Given the description of an element on the screen output the (x, y) to click on. 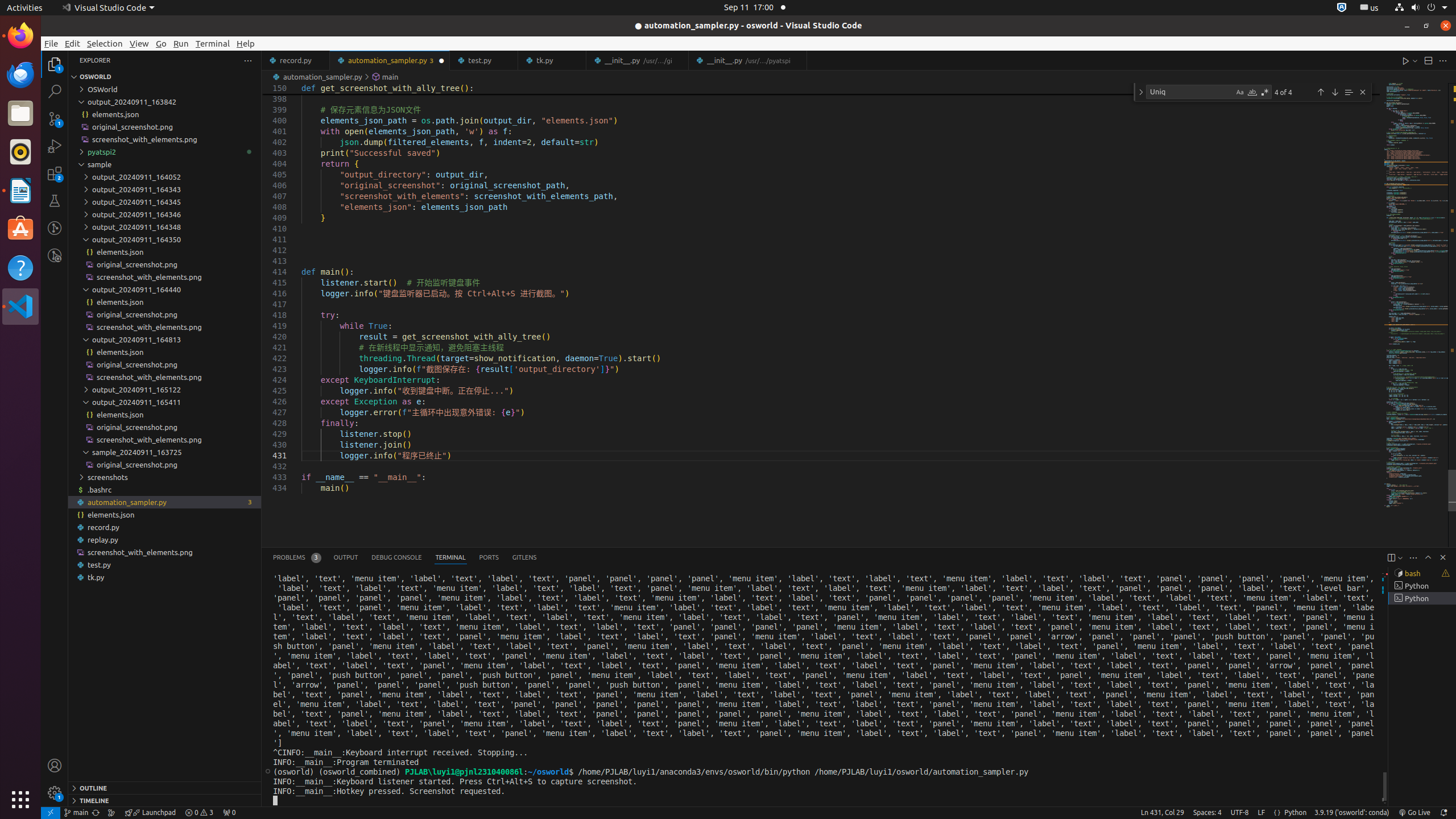
rocket gitlens-unplug Launchpad, GitLens Launchpad ᴘʀᴇᴠɪᴇᴡ    &mdash;    [$(question)](command:gitlens.launchpad.indicator.action?%22info%22 "What is this?") [$(gear)](command:workbench.action.openSettings?%22gitlens.launchpad%22 "Settings")  |  [$(circle-slash) Hide](command:gitlens.launchpad.indicator.action?%22hide%22 "Hide") --- [Launchpad](command:gitlens.launchpad.indicator.action?%info%22 "Learn about Launchpad") organizes your pull requests into actionable groups to help you focus and keep your team unblocked. It's always accessible using the `GitLens: Open Launchpad` command from the Command Palette. --- [Connect an integration](command:gitlens.showLaunchpad?%7B%22source%22%3A%22launchpad-indicator%22%7D "Connect an integration") to get started. Element type: push-button (150, 812)
output_20240911_164813 Element type: tree-item (164, 339)
GitLens Inspect Element type: page-tab (54, 255)
Extensions (Ctrl+Shift+X) - 2 require update Element type: page-tab (54, 173)
screenshots Element type: tree-item (164, 476)
